Given the description of an element on the screen output the (x, y) to click on. 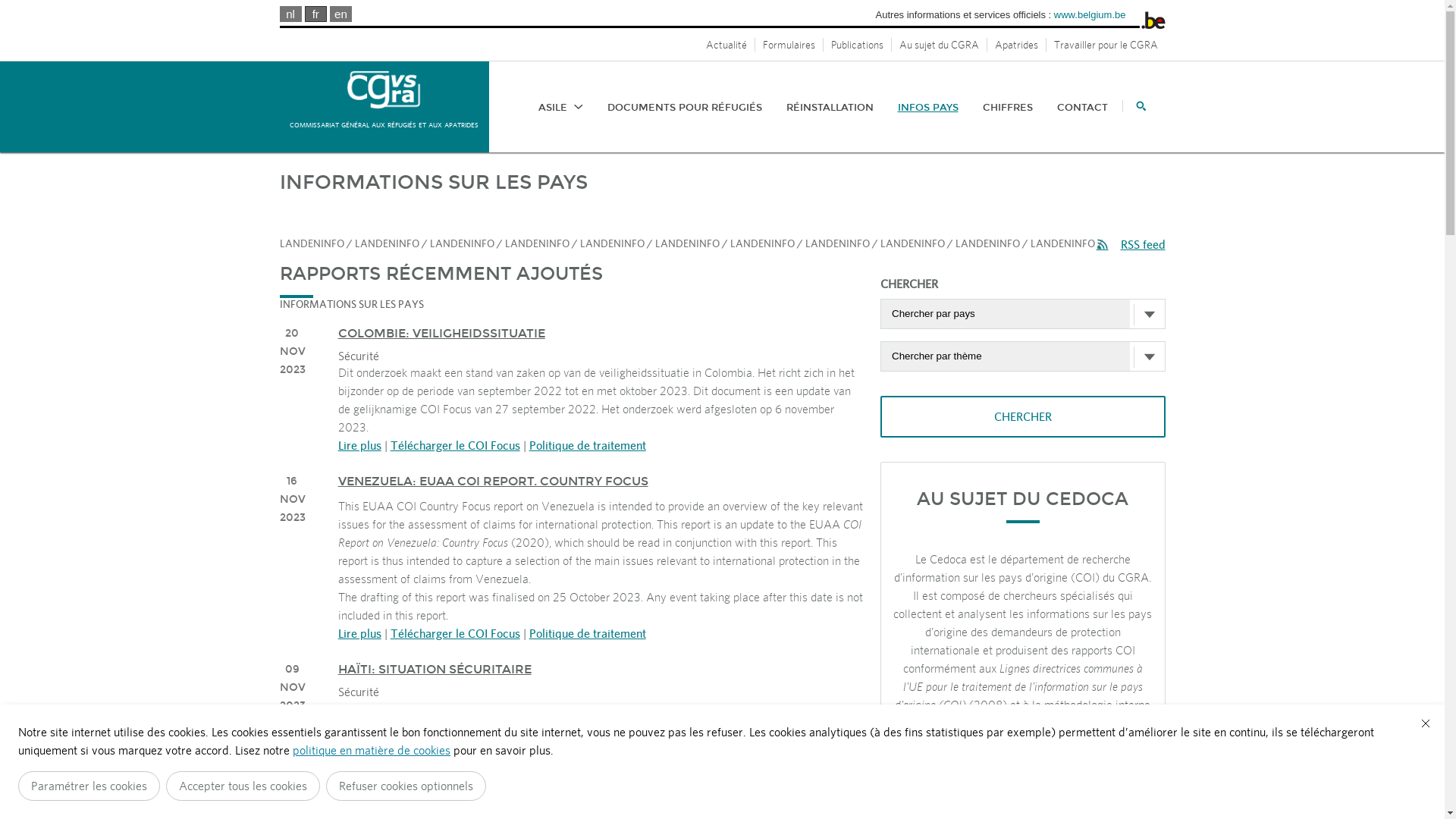
en Element type: text (340, 13)
Return to the CGVS homepage Element type: hover (383, 89)
RSS feed Element type: text (1130, 244)
Travailler pour le CGRA Element type: text (1105, 44)
Lire plus Element type: text (359, 633)
LANDENINFO Element type: text (1061, 243)
VENEZUELA: EUAA COI REPORT. COUNTRY FOCUS Element type: text (493, 480)
ASILE Element type: text (560, 106)
Apatrides Element type: text (1016, 44)
CHIFFRES Element type: text (1007, 106)
INFOS PAYS Element type: text (927, 106)
CHERCHER Element type: text (1022, 416)
nl Element type: text (289, 13)
Politique de traitement Element type: text (587, 633)
Politique de traitement Element type: text (587, 444)
LANDENINFO Element type: text (987, 243)
LANDENINFO Element type: text (537, 243)
Formulaires Element type: text (789, 44)
www.belgium.be Element type: text (1090, 14)
LANDENINFO Element type: text (386, 243)
Publications Element type: text (857, 44)
Lire plus Element type: text (359, 762)
COLOMBIE: VEILIGHEIDSSITUATIE Element type: text (441, 333)
Refuser cookies optionnels Element type: text (406, 785)
Fermer Element type: hover (1425, 723)
Accepter tous les cookies Element type: text (243, 785)
fr Element type: text (315, 13)
Lire plus Element type: text (359, 444)
LANDENINFO Element type: text (311, 243)
CONTACT Element type: text (1082, 106)
LANDENINFO Element type: text (761, 243)
LANDENINFO Element type: text (837, 243)
LANDENINFO Element type: text (911, 243)
Aller au contenu principal Element type: text (24, 2)
LANDENINFO Element type: text (611, 243)
(Montrer le moteur de recherche) Element type: text (1134, 105)
Politique de traitement Element type: text (587, 762)
LANDENINFO Element type: text (687, 243)
LANDENINFO Element type: text (461, 243)
Au sujet du CGRA Element type: text (939, 44)
